Given the description of an element on the screen output the (x, y) to click on. 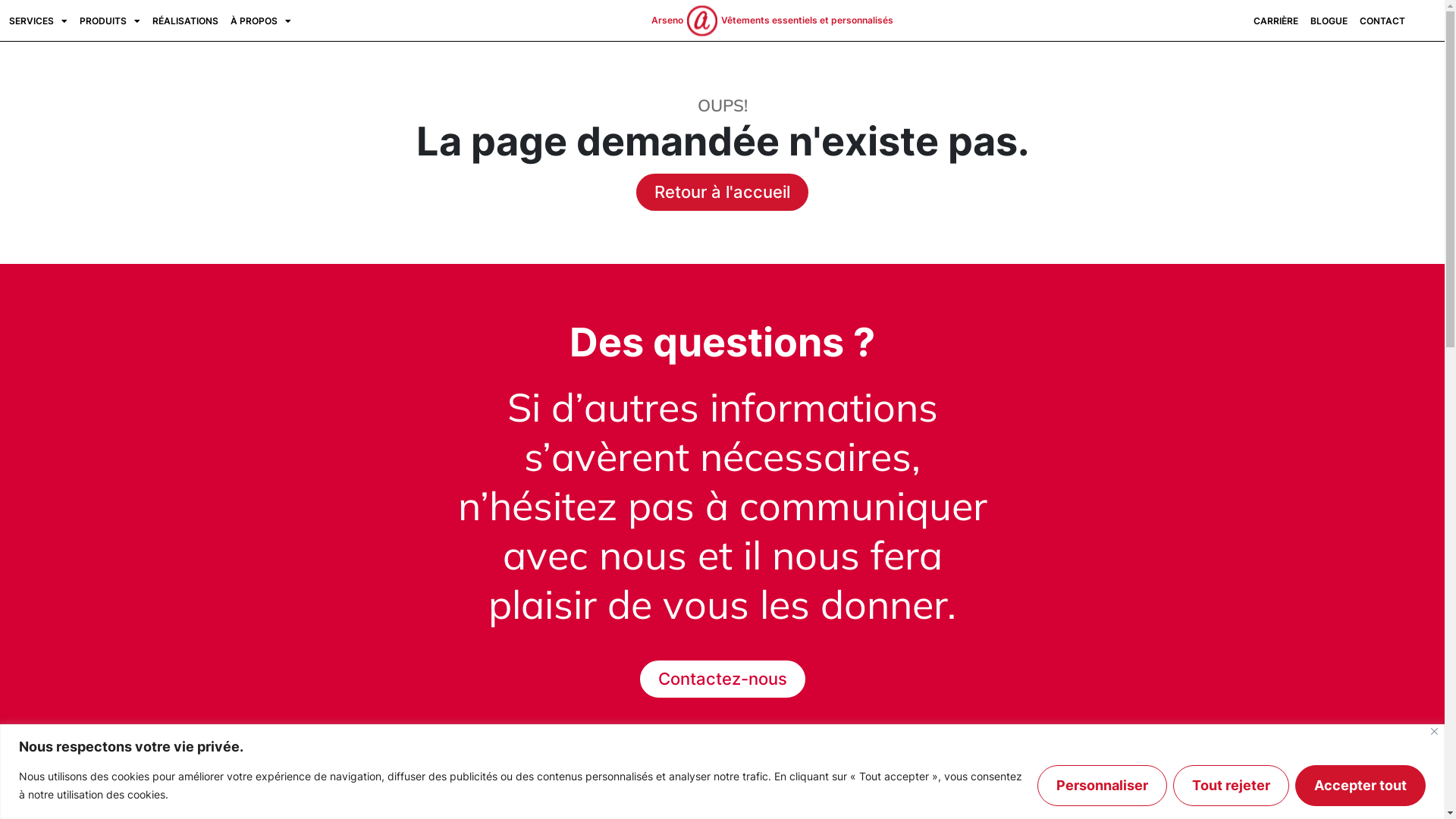
BLOGUE Element type: text (1328, 20)
SERVICES Element type: text (38, 20)
Accepter tout Element type: text (1360, 784)
CONTACT Element type: text (1382, 20)
Personnaliser Element type: text (1102, 784)
Contactez-nous Element type: text (722, 678)
PRODUITS Element type: text (109, 20)
Tout rejeter Element type: text (1231, 784)
